Given the description of an element on the screen output the (x, y) to click on. 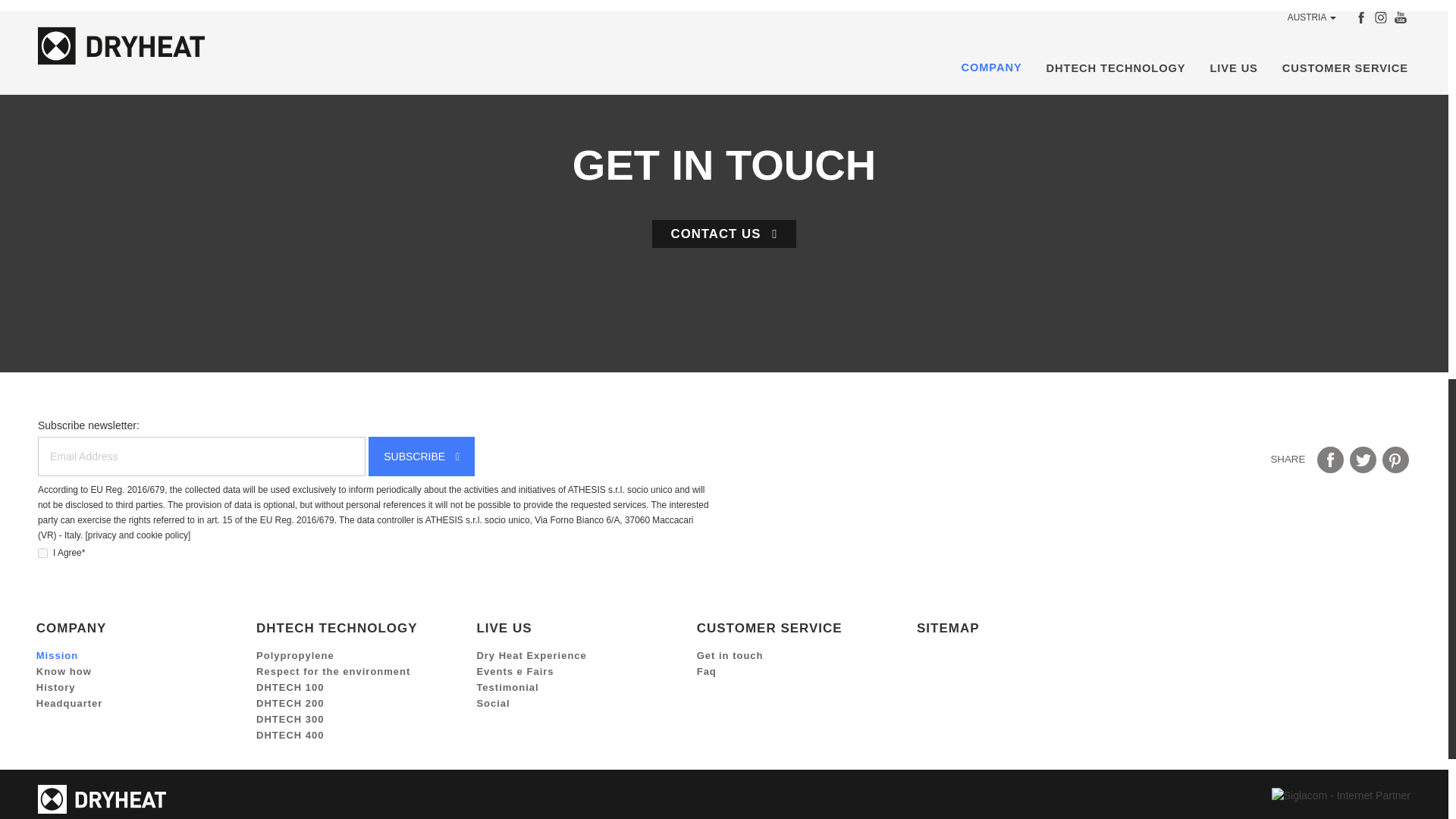
Siglacom - Internet Partner (1340, 795)
on (42, 552)
Share on Facebook (1330, 458)
Share on Pinterest (1395, 458)
Share on Twitter (1362, 458)
